Given the description of an element on the screen output the (x, y) to click on. 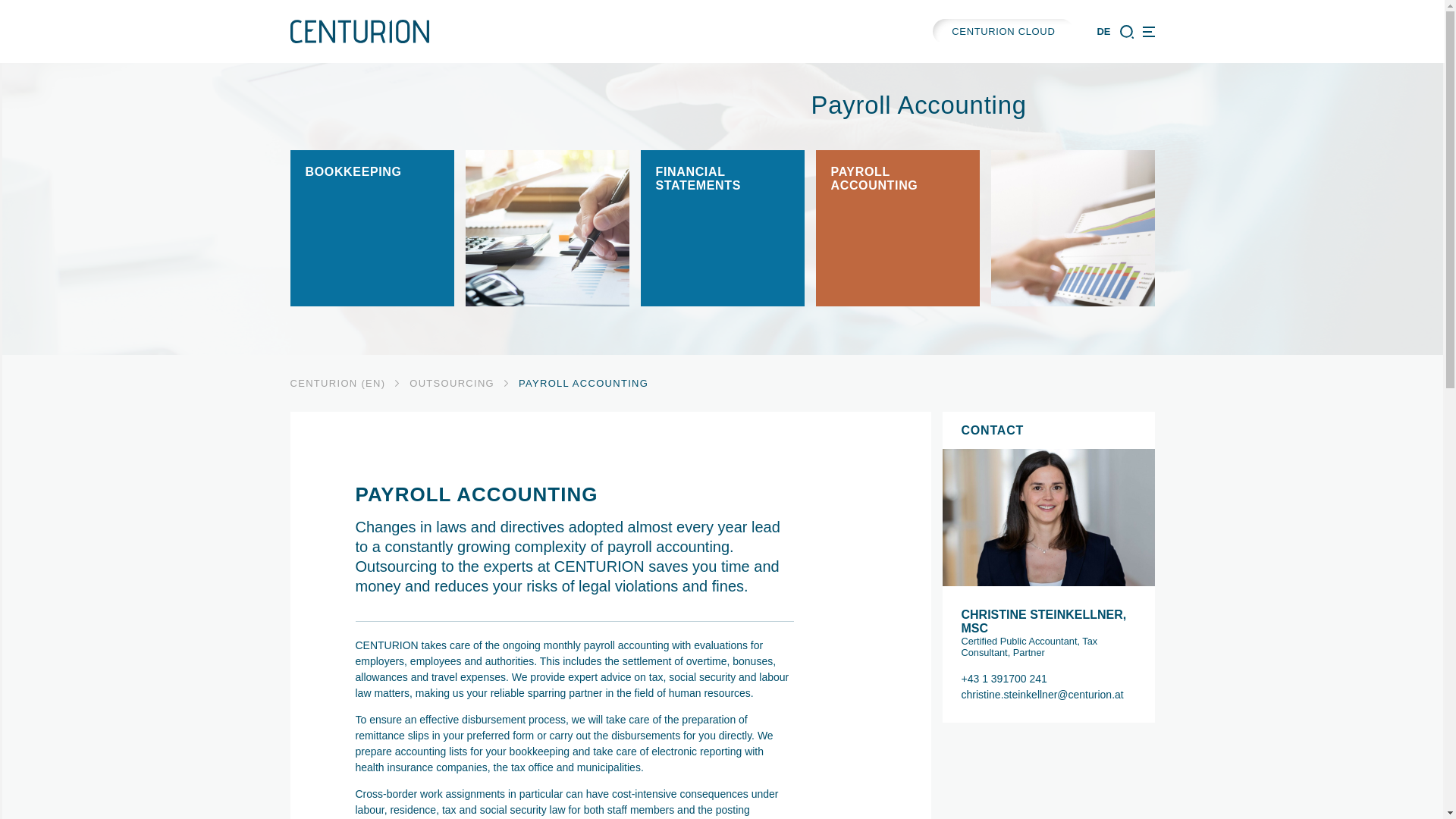
CHRISTINE STEINKELLNER, MSC (1048, 621)
Centurion (337, 383)
Bookkeeping (370, 227)
DE (1102, 31)
Outsourcing (452, 383)
BOOKKEEPING (370, 227)
OUTSOURCING (452, 383)
FINANCIAL STATEMENTS (721, 227)
